Given the description of an element on the screen output the (x, y) to click on. 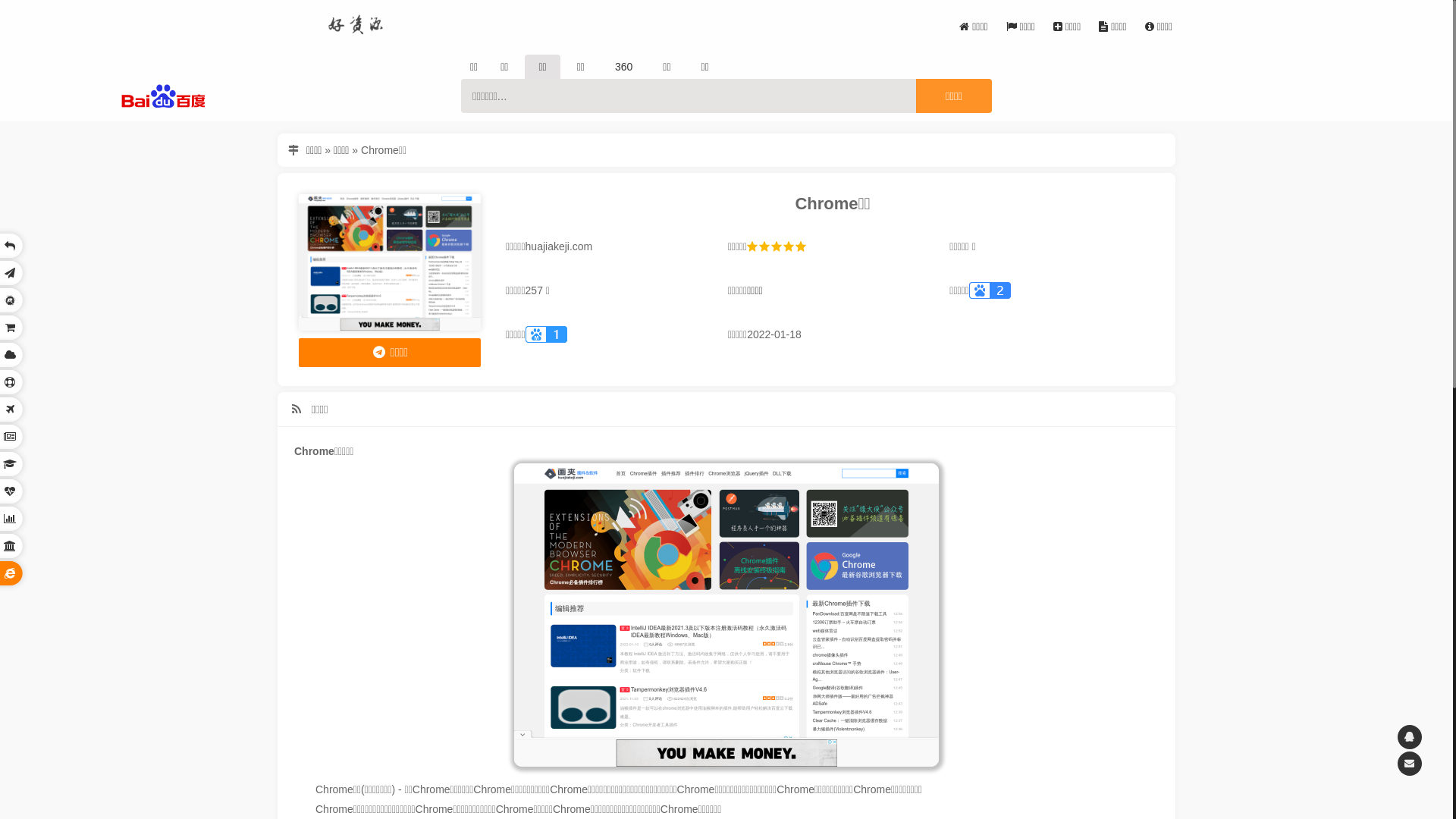
0 Element type: text (1421, 722)
